Given the description of an element on the screen output the (x, y) to click on. 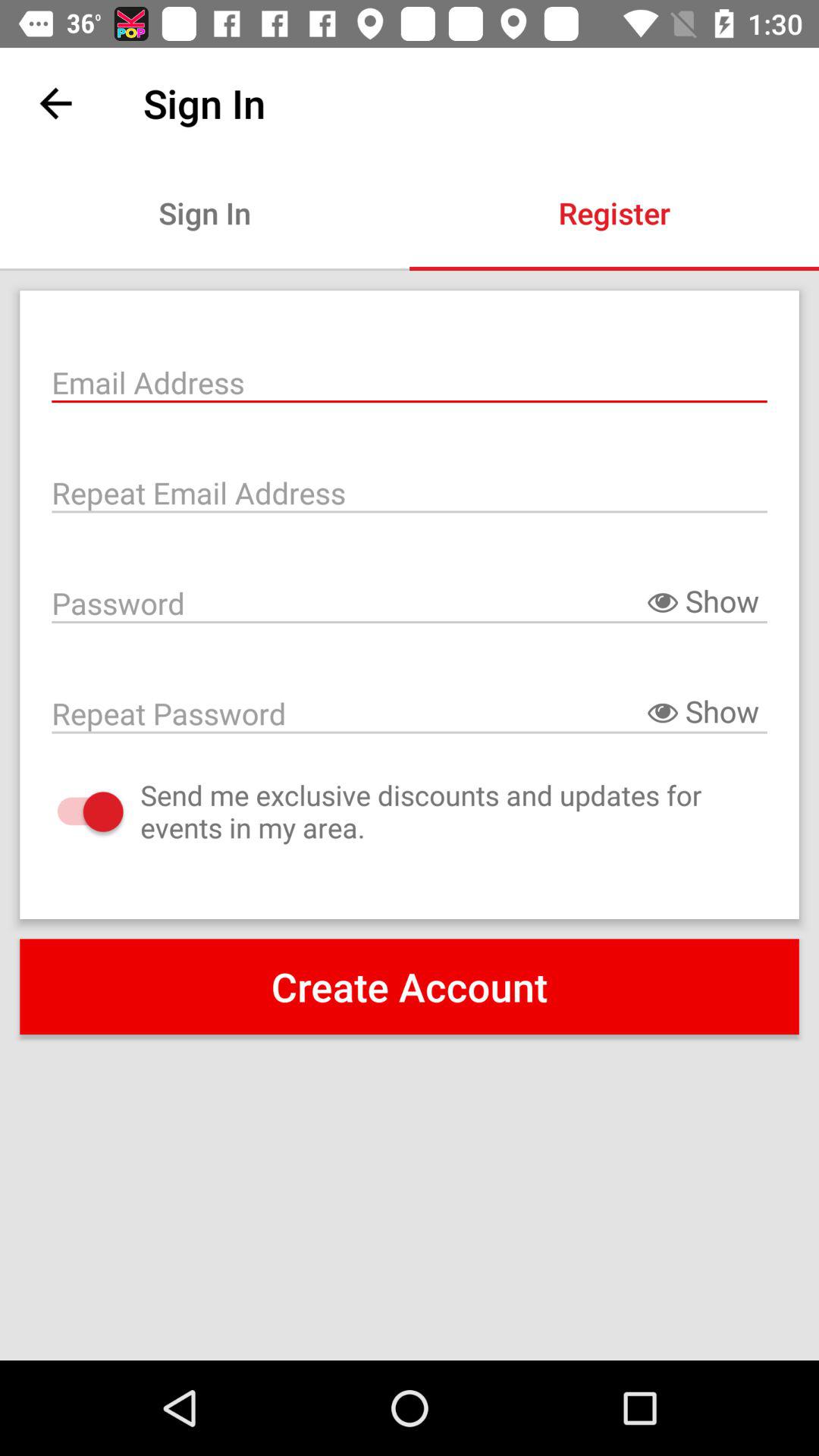
press the icon above sign in item (55, 103)
